Given the description of an element on the screen output the (x, y) to click on. 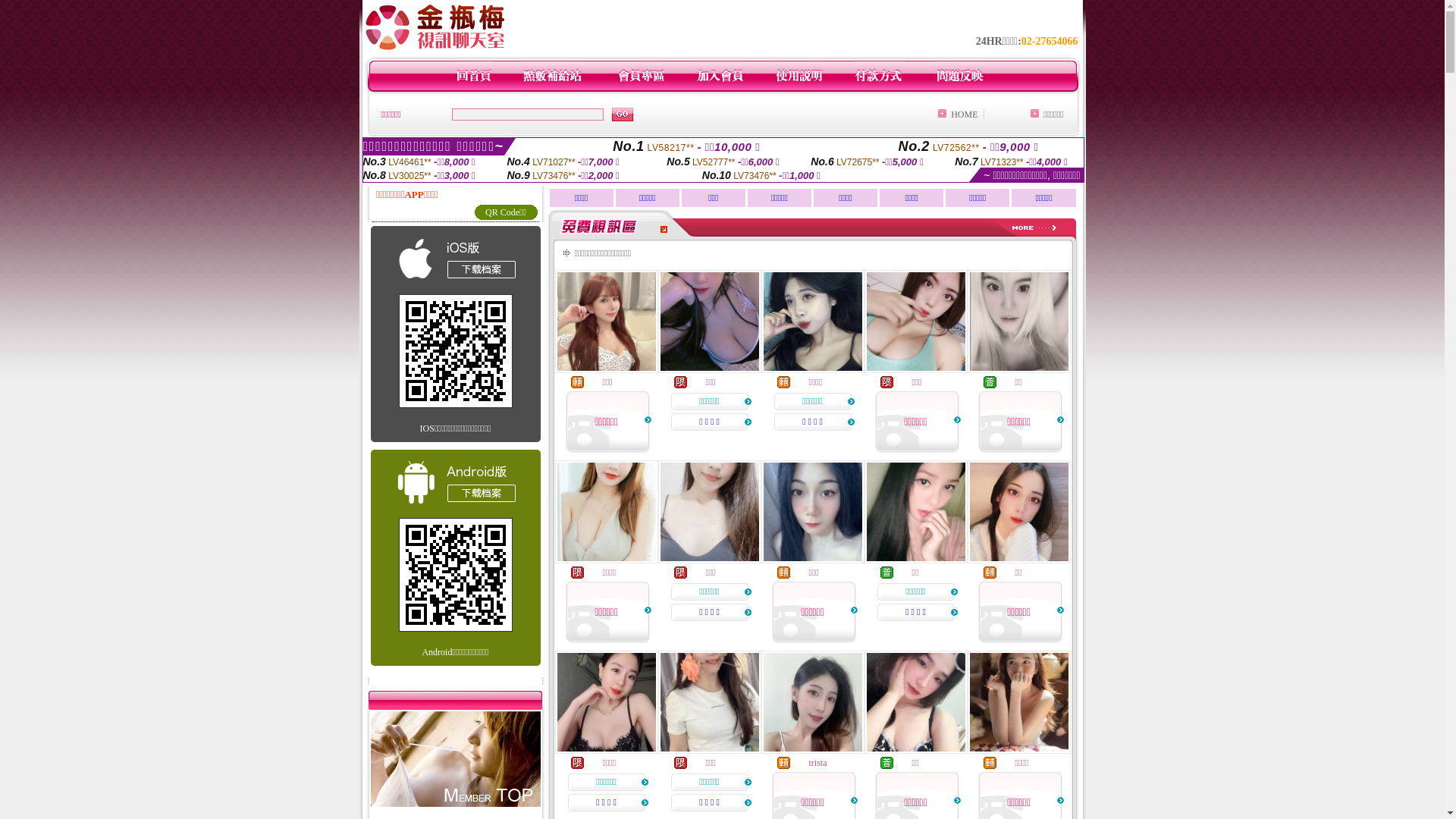
trista Element type: text (817, 762)
HOME Element type: text (963, 114)
